Given the description of an element on the screen output the (x, y) to click on. 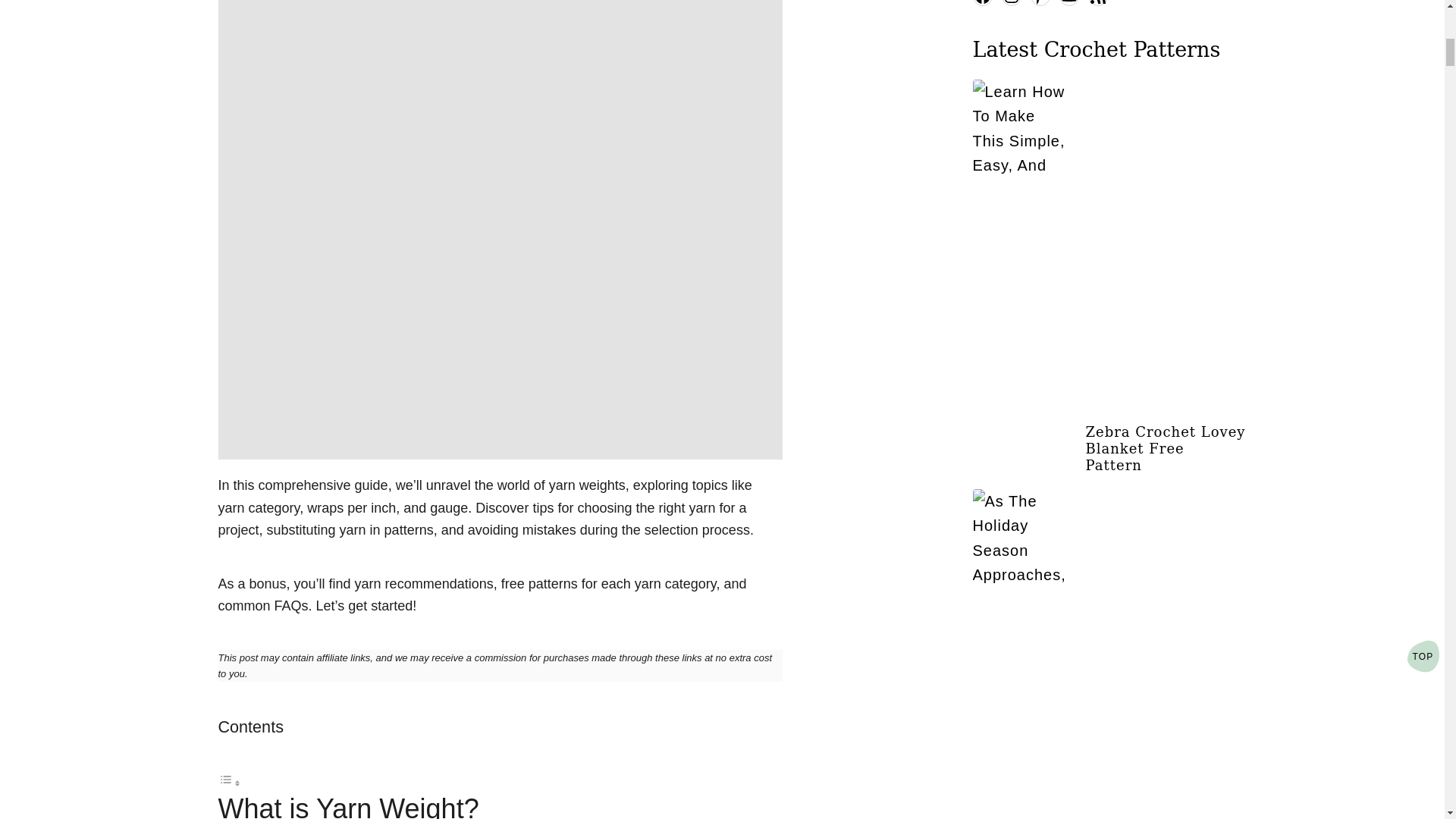
TOP (1423, 344)
TOP (1423, 344)
